Given the description of an element on the screen output the (x, y) to click on. 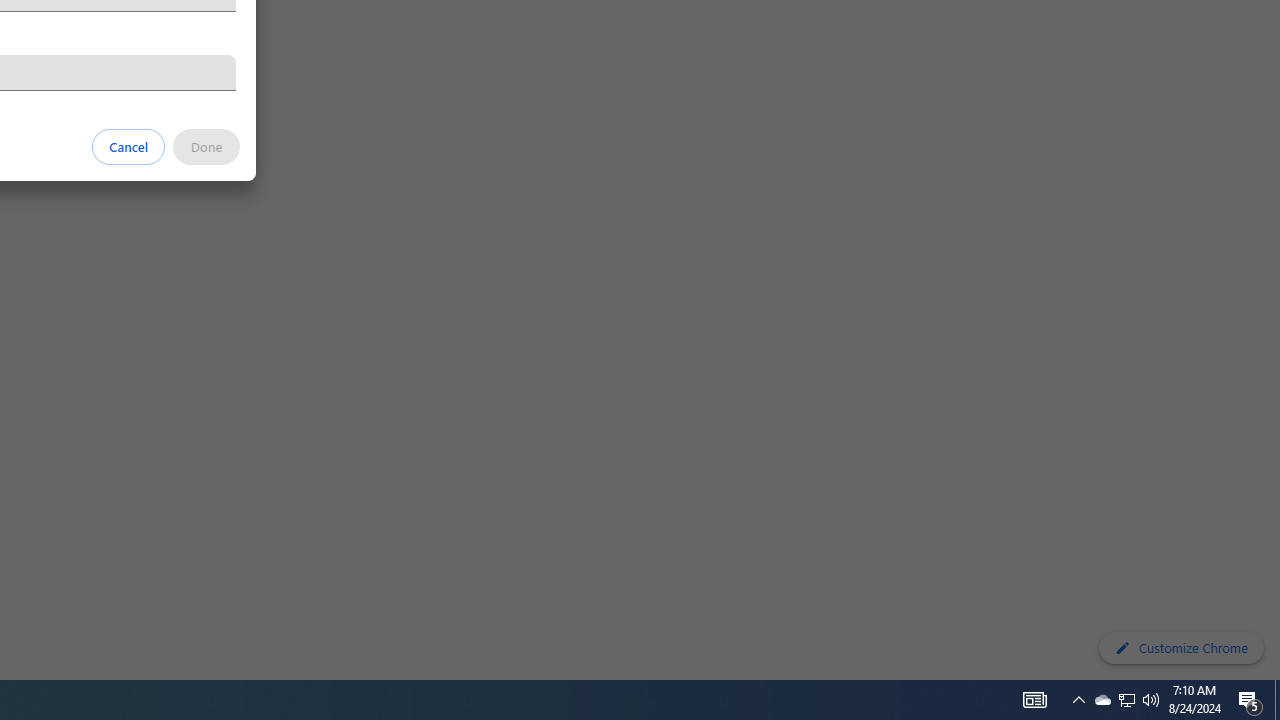
Done (206, 146)
Cancel (129, 146)
